Given the description of an element on the screen output the (x, y) to click on. 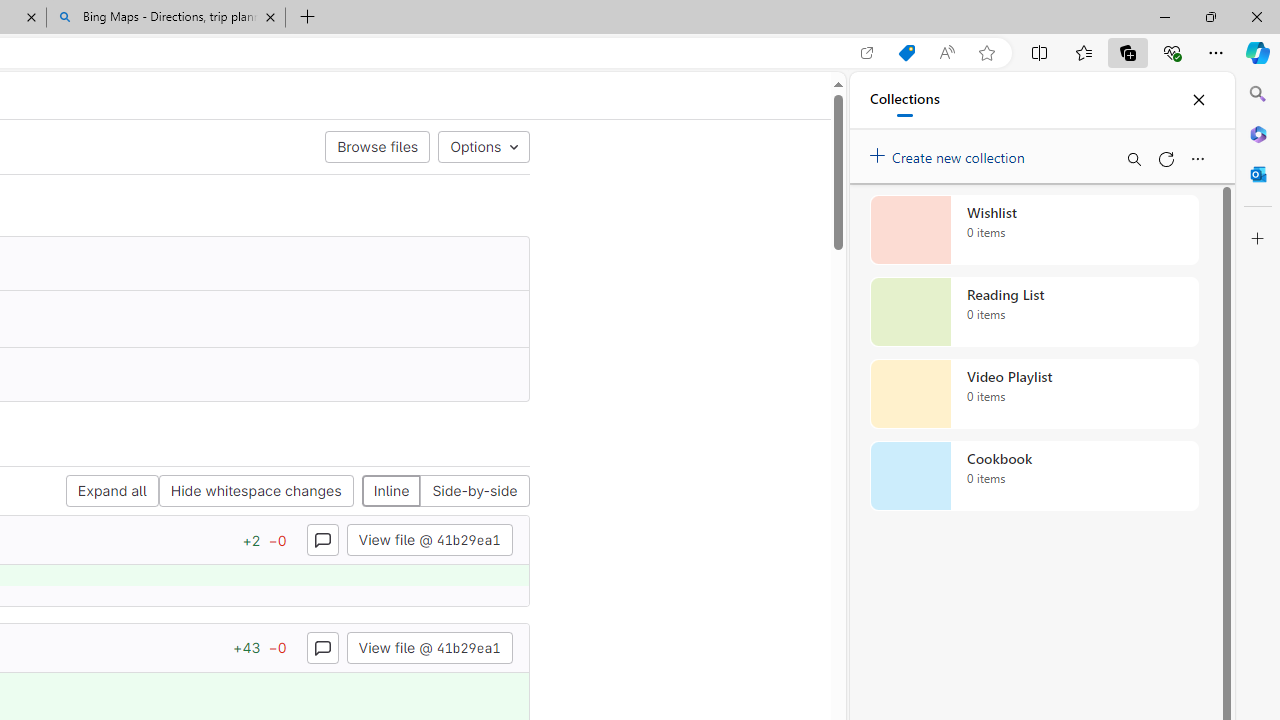
Browse files (378, 146)
Expand all (111, 491)
View file @ 41b29ea1 (429, 646)
More options menu (1197, 158)
Class: s16 gl-icon gl-button-icon  (322, 647)
Options (483, 146)
Side-by-side (474, 491)
